Given the description of an element on the screen output the (x, y) to click on. 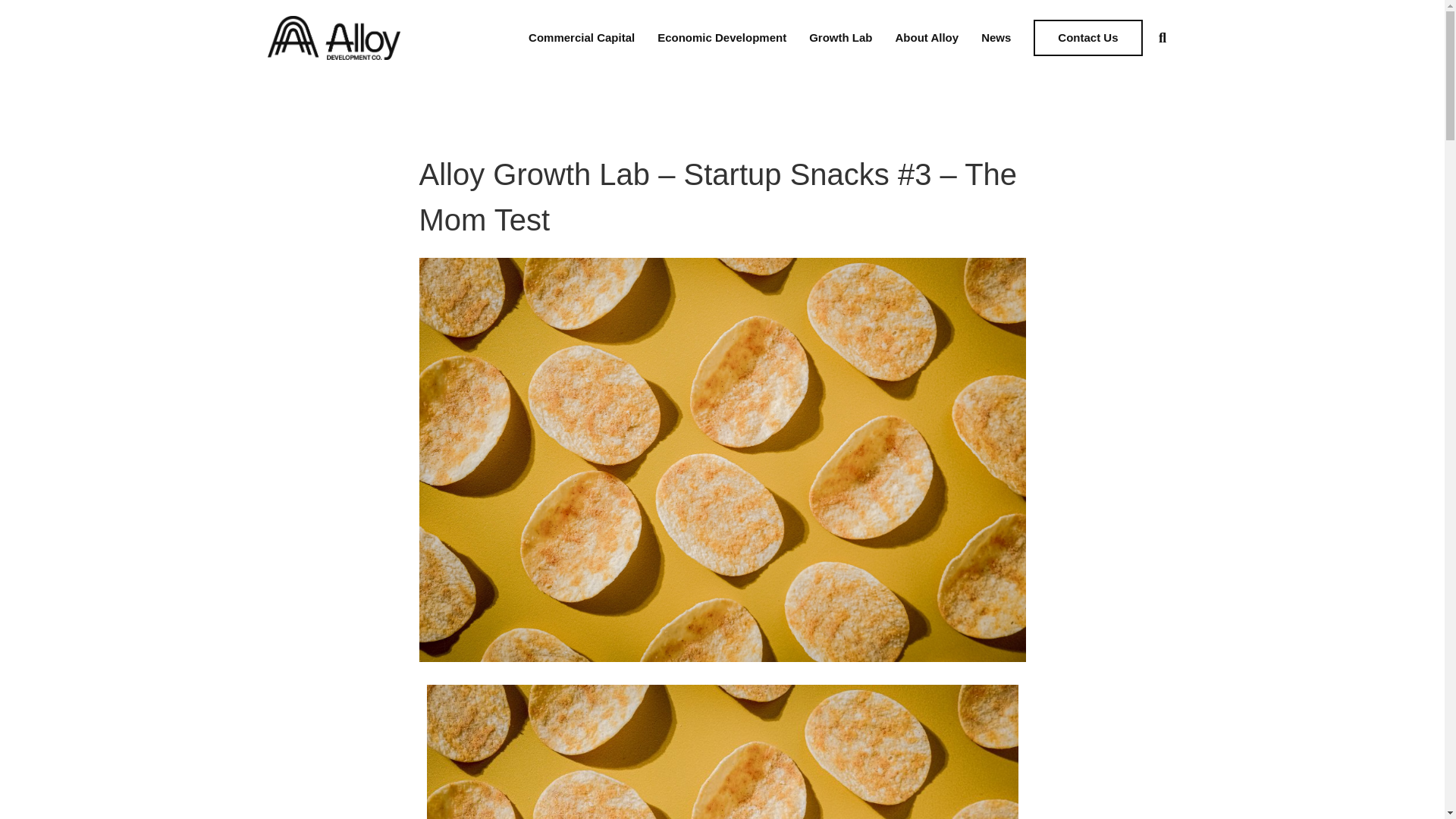
Commercial Capital (581, 37)
Growth Lab (840, 37)
About Alloy (927, 37)
Contact Us (1087, 37)
Economic Development (722, 37)
